Given the description of an element on the screen output the (x, y) to click on. 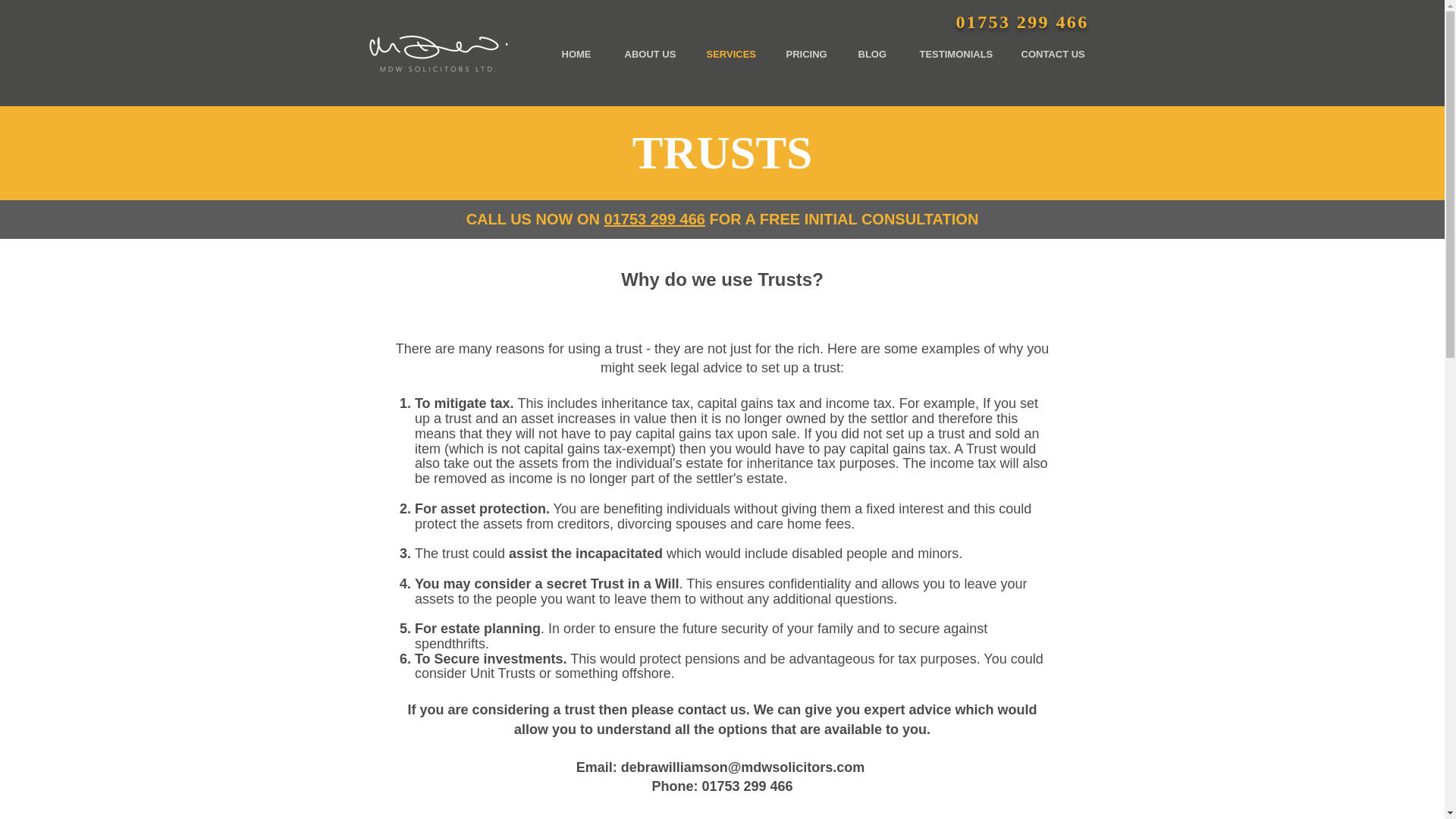
TESTIMONIALS (952, 54)
ABOUT US (646, 54)
BLOG (868, 54)
PRICING (803, 54)
HOME (574, 54)
CONTACT US (1048, 54)
SERVICES (727, 54)
01753 299 466 (654, 218)
01753 299 466 (1021, 21)
